Given the description of an element on the screen output the (x, y) to click on. 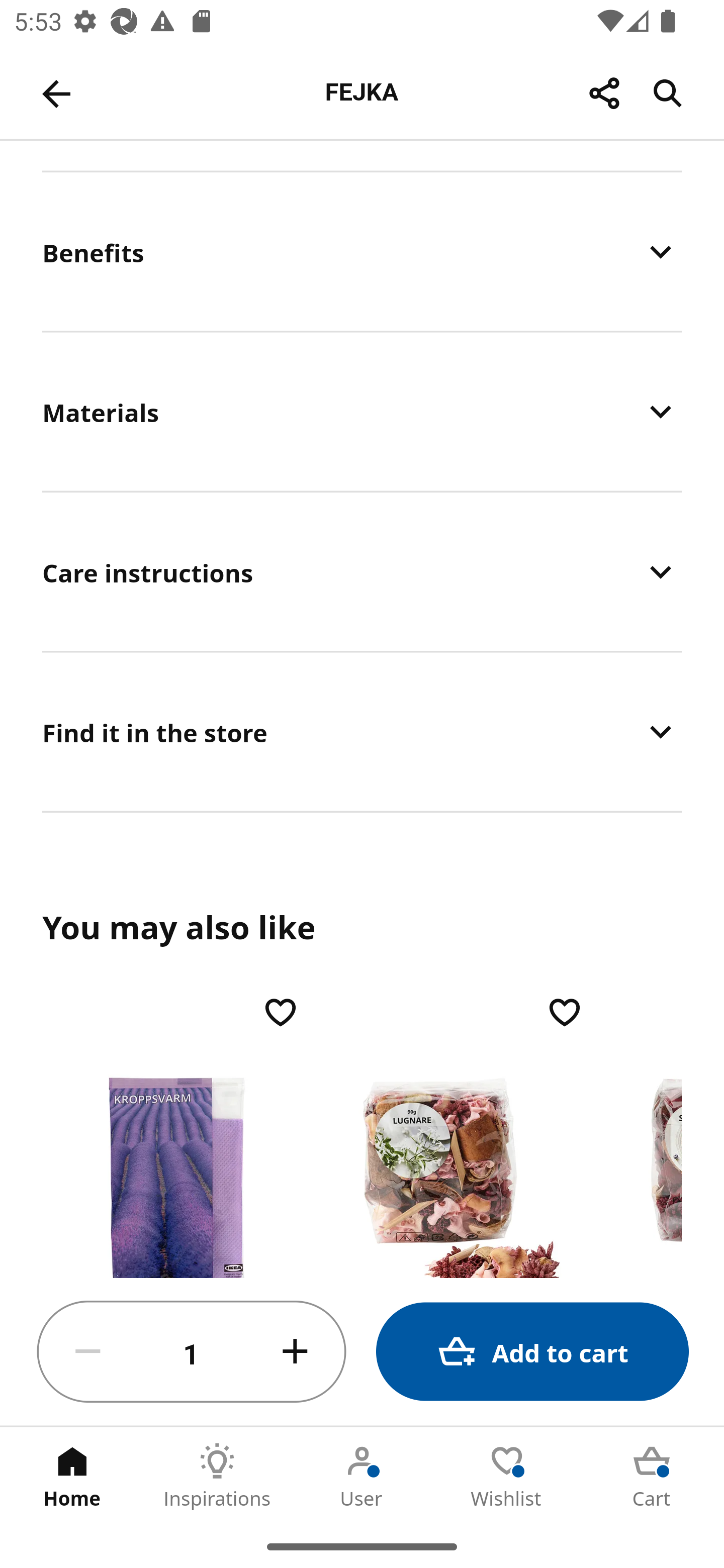
Benefits (361, 251)
Materials (361, 411)
Care instructions (361, 571)
Find it in the store (361, 731)
Add to cart (531, 1352)
1 (191, 1352)
Home
Tab 1 of 5 (72, 1476)
Inspirations
Tab 2 of 5 (216, 1476)
User
Tab 3 of 5 (361, 1476)
Wishlist
Tab 4 of 5 (506, 1476)
Cart
Tab 5 of 5 (651, 1476)
